Given the description of an element on the screen output the (x, y) to click on. 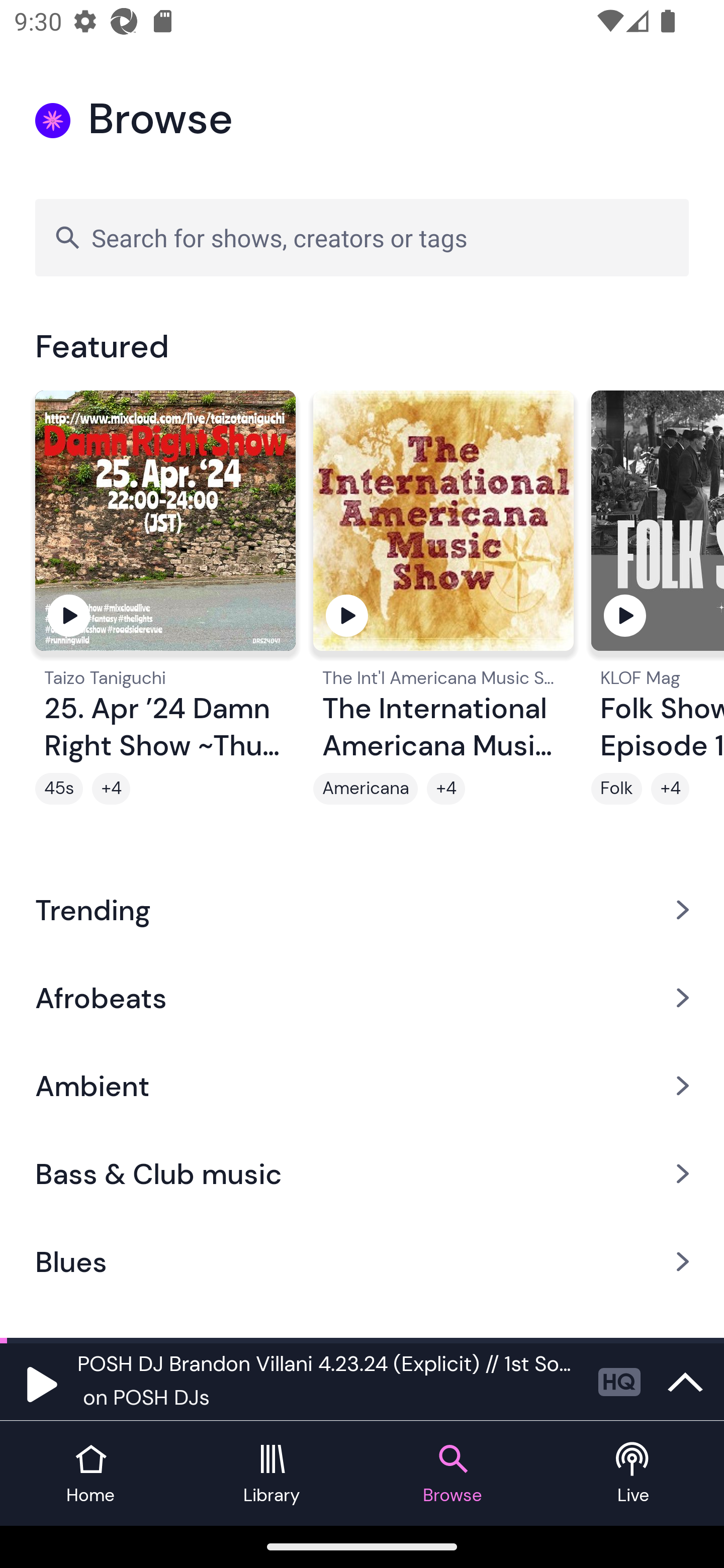
Search for shows, creators or tags (361, 237)
45s (59, 788)
Americana (365, 788)
Folk (616, 788)
Trending (361, 909)
Afrobeats (361, 997)
Ambient (361, 1085)
Bass & Club music (361, 1174)
Blues (361, 1262)
Home tab Home (90, 1473)
Library tab Library (271, 1473)
Browse tab Browse (452, 1473)
Live tab Live (633, 1473)
